Given the description of an element on the screen output the (x, y) to click on. 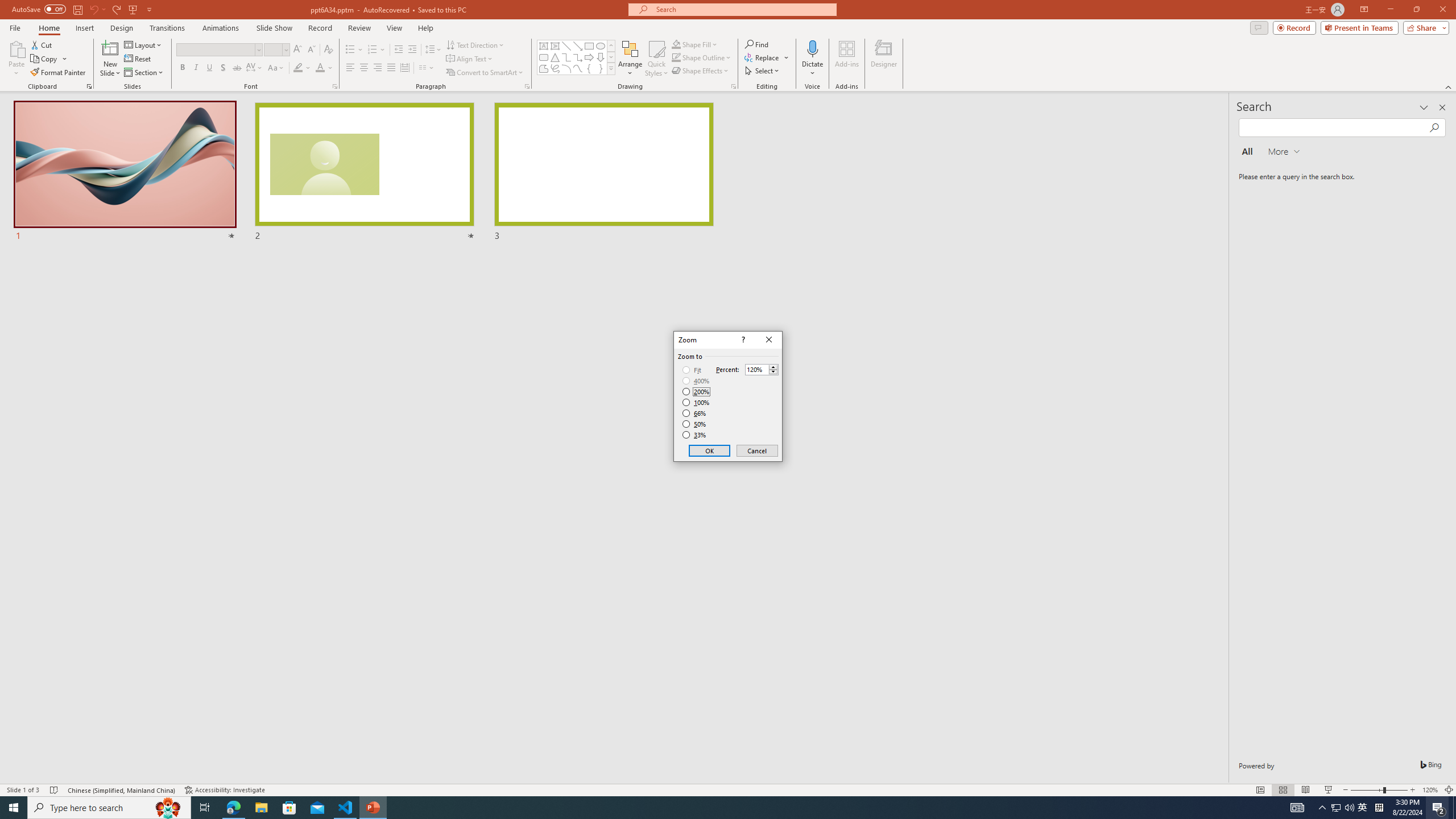
Fit (691, 370)
Action Center, 2 new notifications (1439, 807)
Zoom 120% (1430, 790)
